Given the description of an element on the screen output the (x, y) to click on. 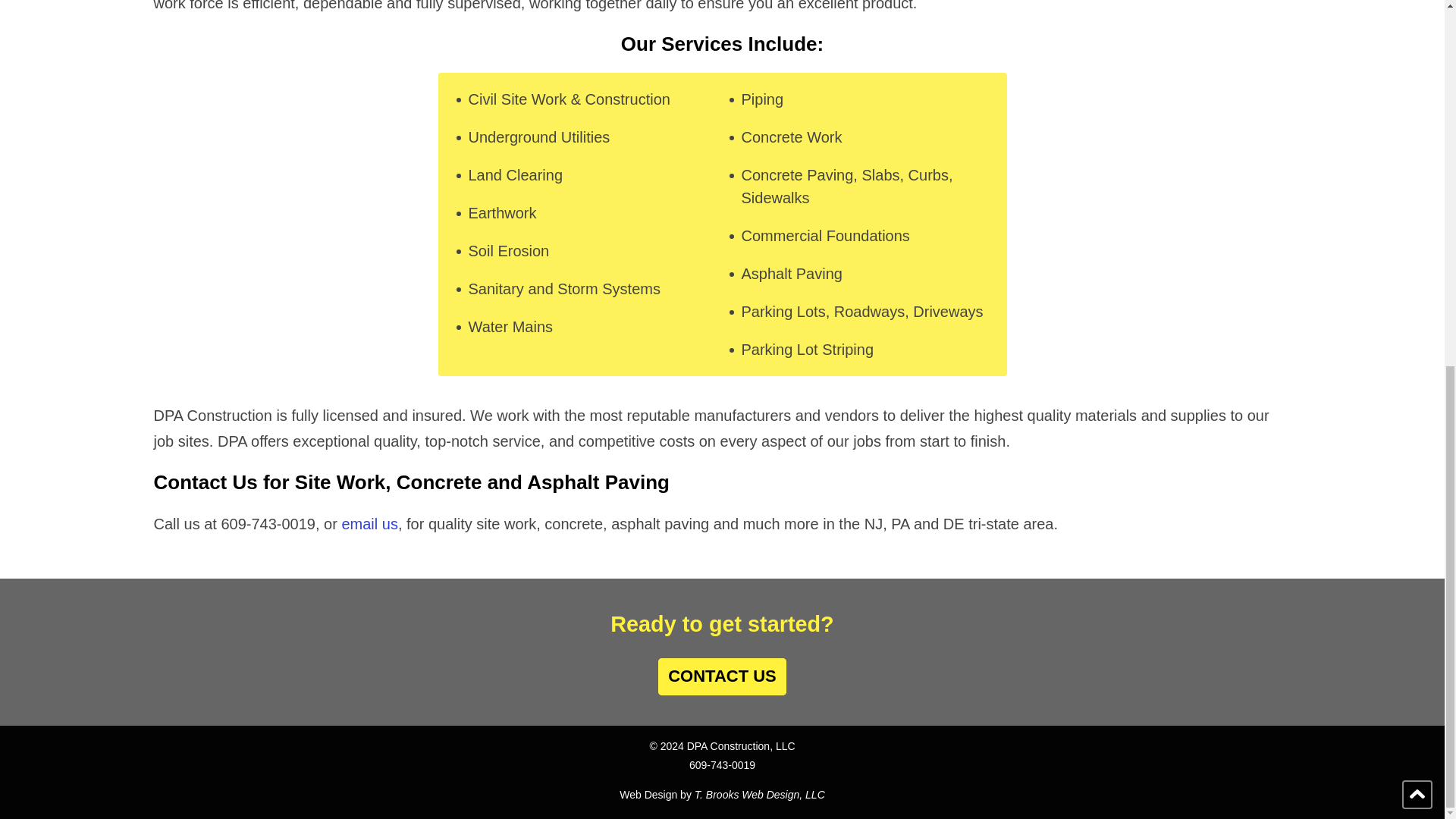
609-743-0019 (721, 765)
609-743-0019 (268, 523)
CONTACT US (722, 676)
T. Brooks Web Design, LLC (759, 794)
email us (368, 523)
Go to Top (1417, 135)
